Given the description of an element on the screen output the (x, y) to click on. 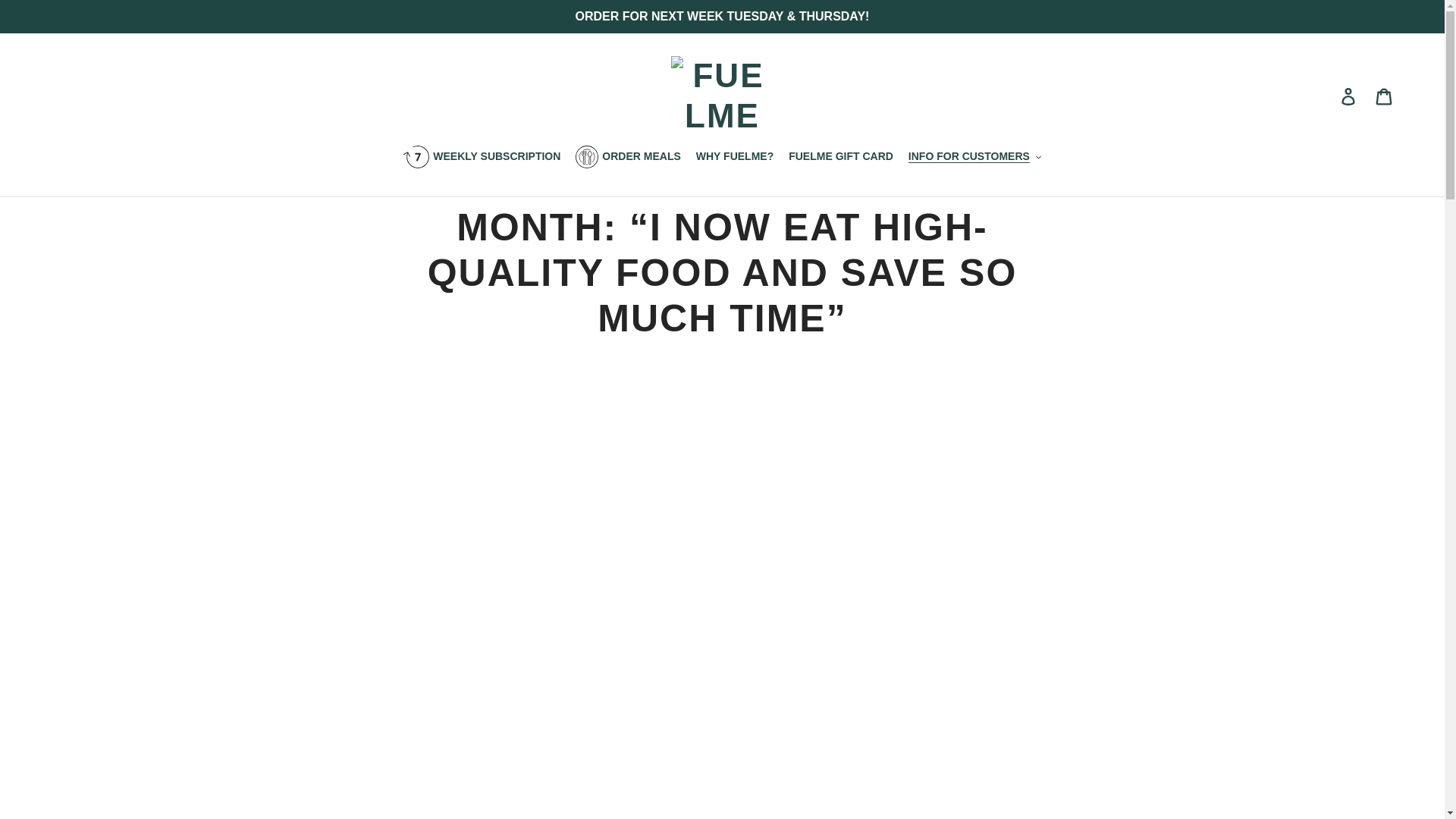
WEEKLY SUBSCRIPTION (481, 157)
WHY FUELME? (734, 157)
FUELME GIFT CARD (840, 157)
Cart (1385, 96)
Log in (1349, 96)
ORDER MEALS (627, 157)
